Given the description of an element on the screen output the (x, y) to click on. 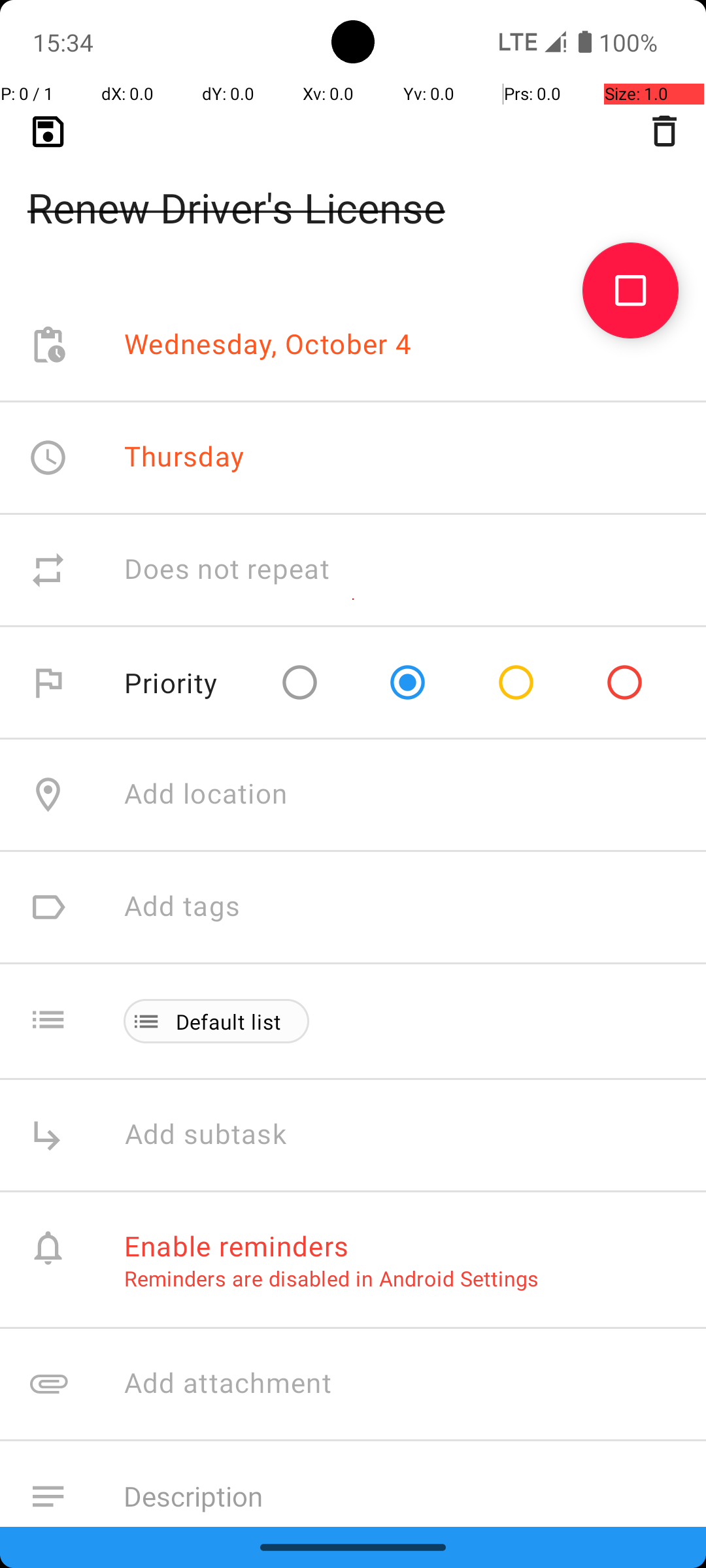
Wednesday, October 4 Element type: android.widget.TextView (267, 344)
